Given the description of an element on the screen output the (x, y) to click on. 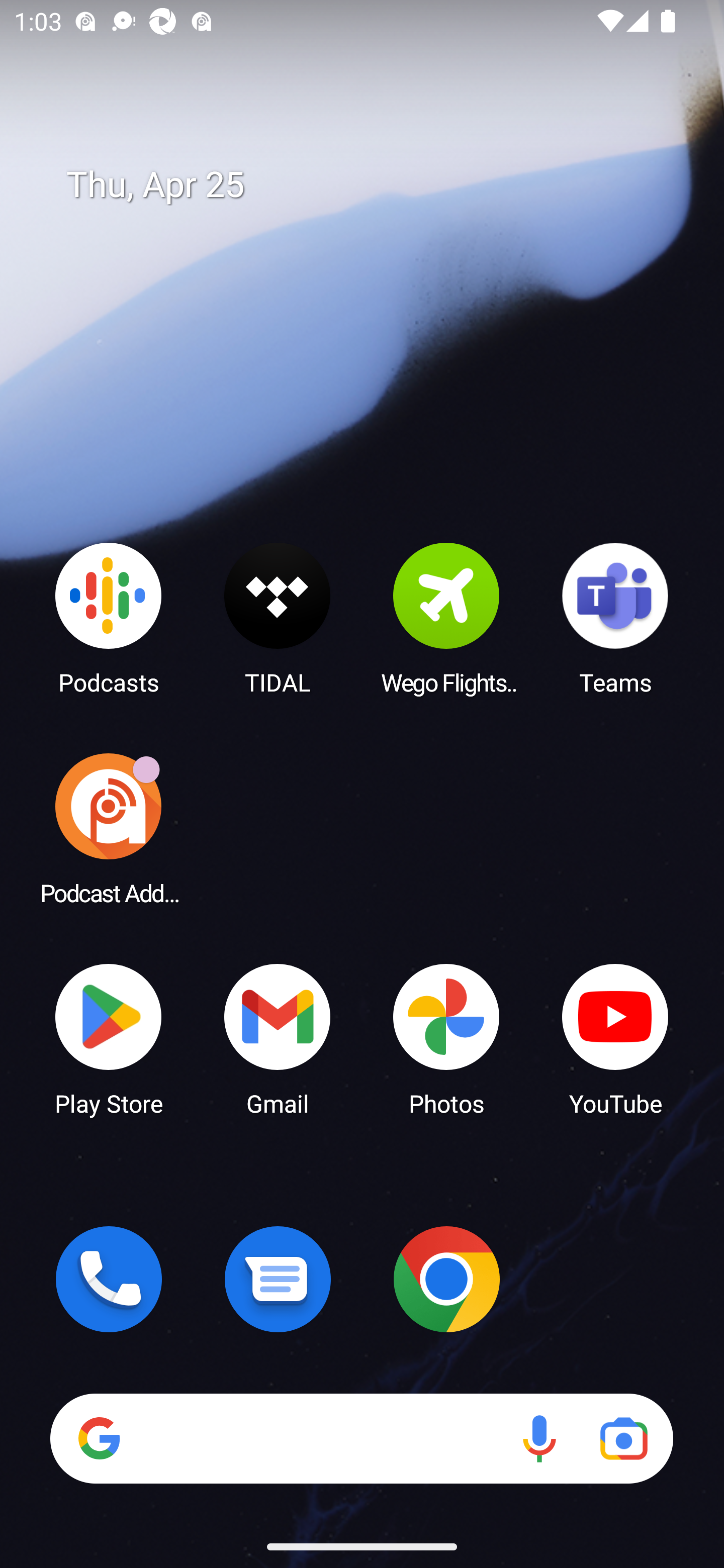
Thu, Apr 25 (375, 184)
Podcasts (108, 617)
TIDAL (277, 617)
Wego Flights & Hotels (445, 617)
Teams (615, 617)
Play Store (108, 1038)
Gmail (277, 1038)
Photos (445, 1038)
YouTube (615, 1038)
Phone (108, 1279)
Messages (277, 1279)
Chrome (446, 1279)
Search Voice search Google Lens (361, 1438)
Voice search (539, 1438)
Google Lens (623, 1438)
